Given the description of an element on the screen output the (x, y) to click on. 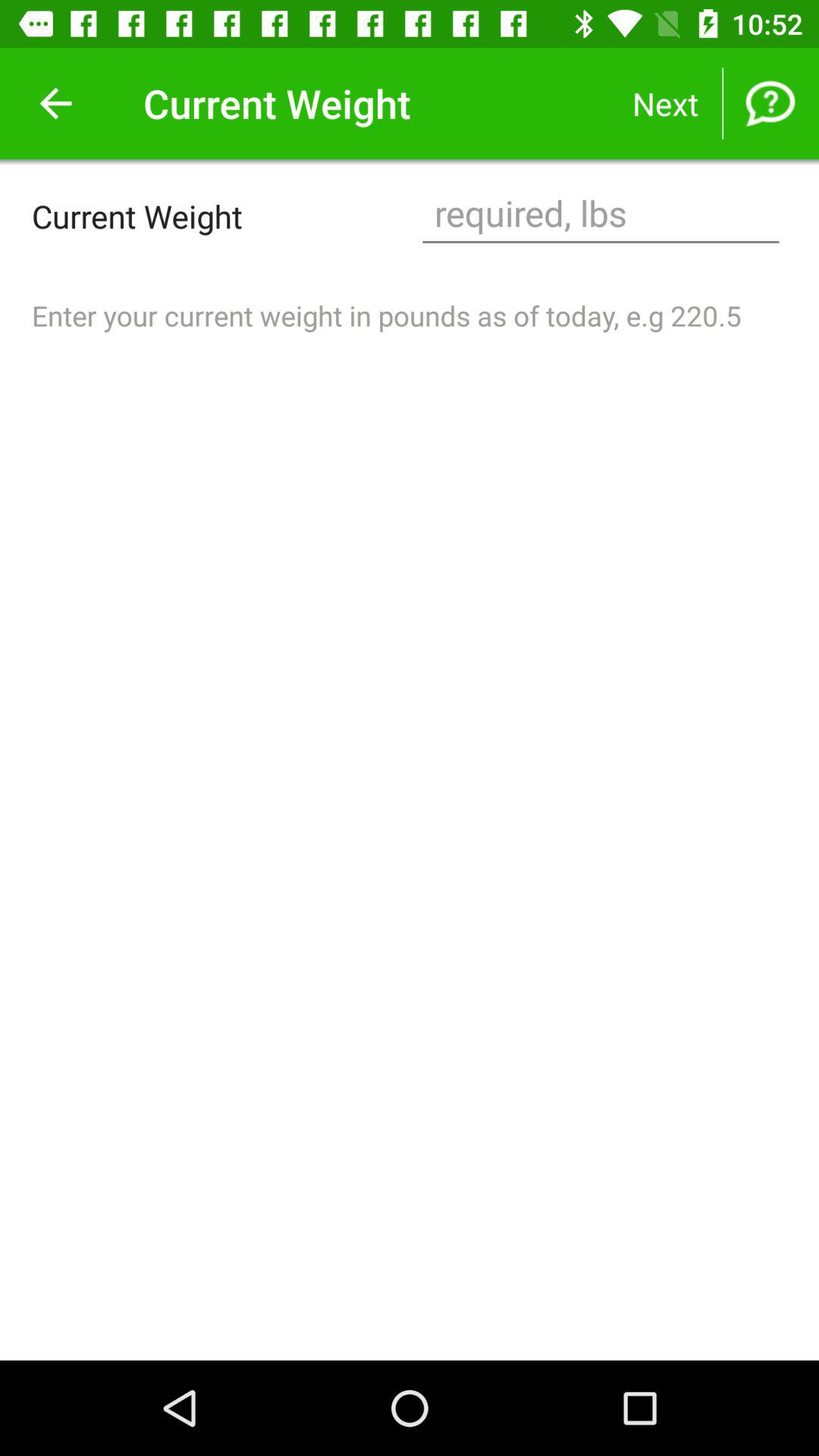
enter weight as numbers (600, 215)
